Given the description of an element on the screen output the (x, y) to click on. 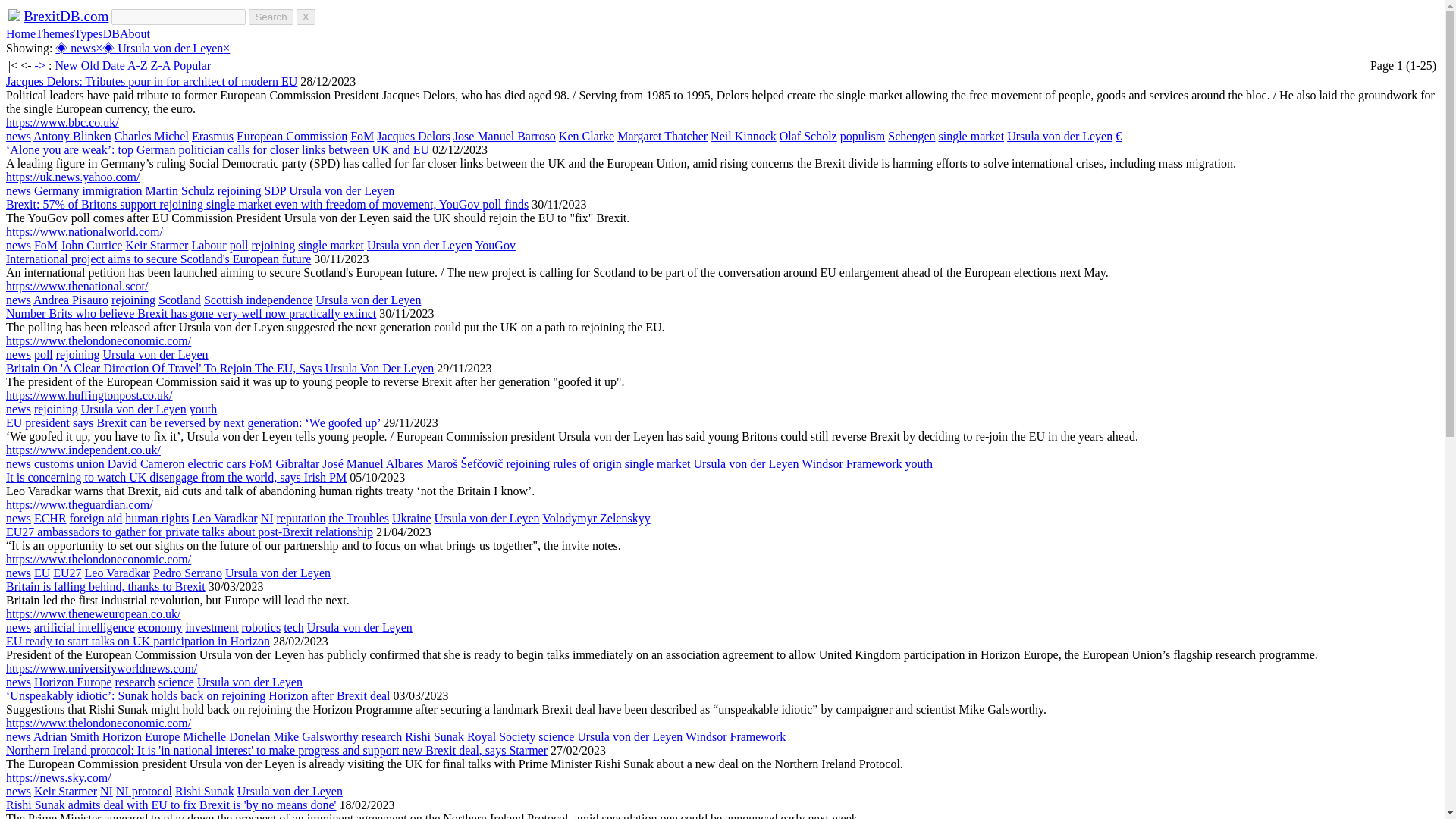
Jose Manuel Barroso (504, 135)
Search (270, 17)
Brexit or EU related news (75, 47)
X (306, 17)
Antony Blinken (72, 135)
Erasmus (212, 135)
Ken Clarke (586, 135)
Search (270, 17)
X (306, 17)
Charles Michel (152, 135)
